Given the description of an element on the screen output the (x, y) to click on. 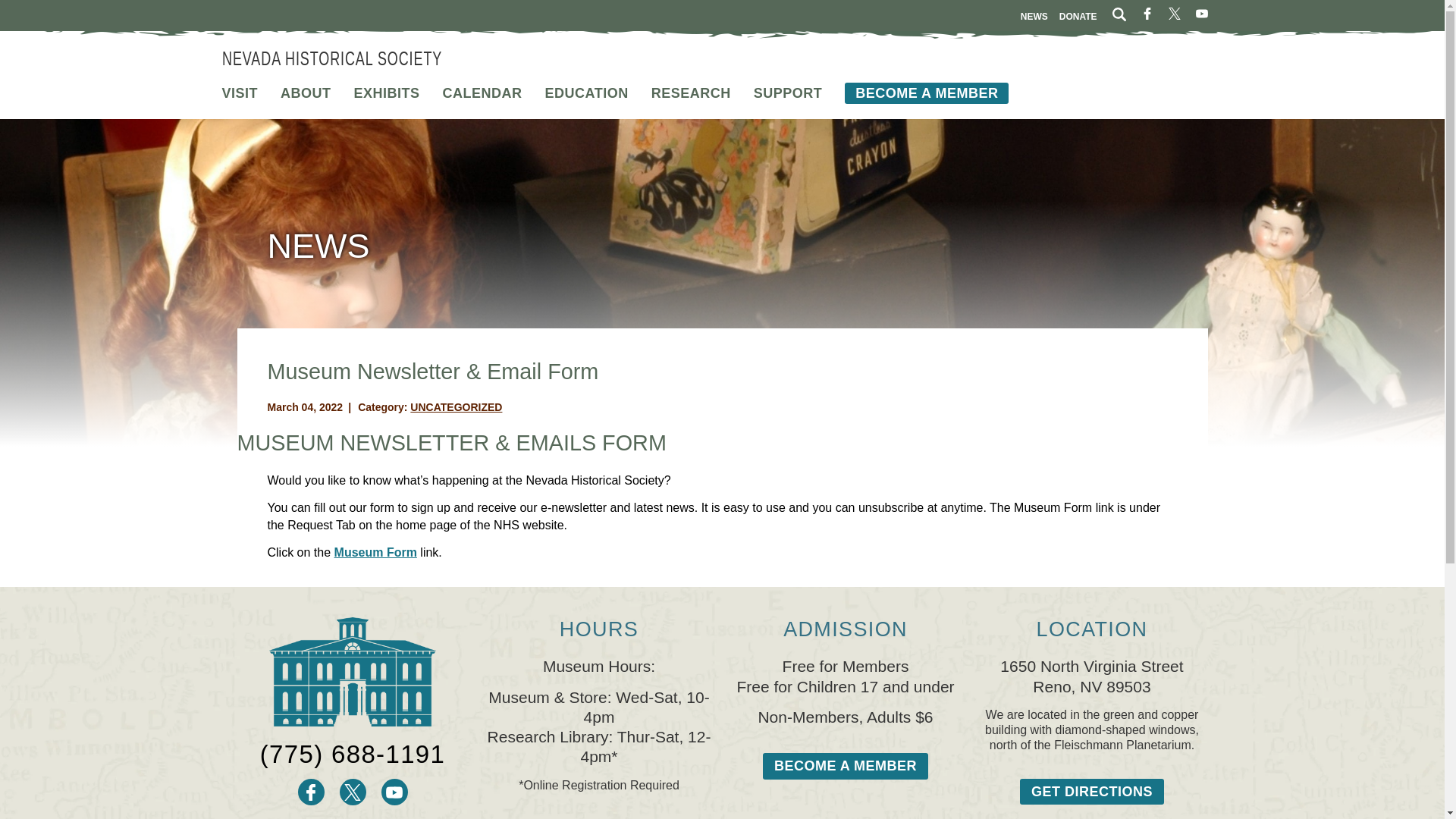
DONATE (1078, 15)
BECOME A MEMBER (926, 92)
ABOUT (306, 92)
NEVADA HISTORICAL SOCIETY (331, 54)
NEWS (1034, 15)
RESEARCH (690, 92)
VISIT (239, 92)
EDUCATION (586, 92)
SUPPORT (788, 92)
EXHIBITS (386, 92)
CALENDAR (482, 92)
